Given the description of an element on the screen output the (x, y) to click on. 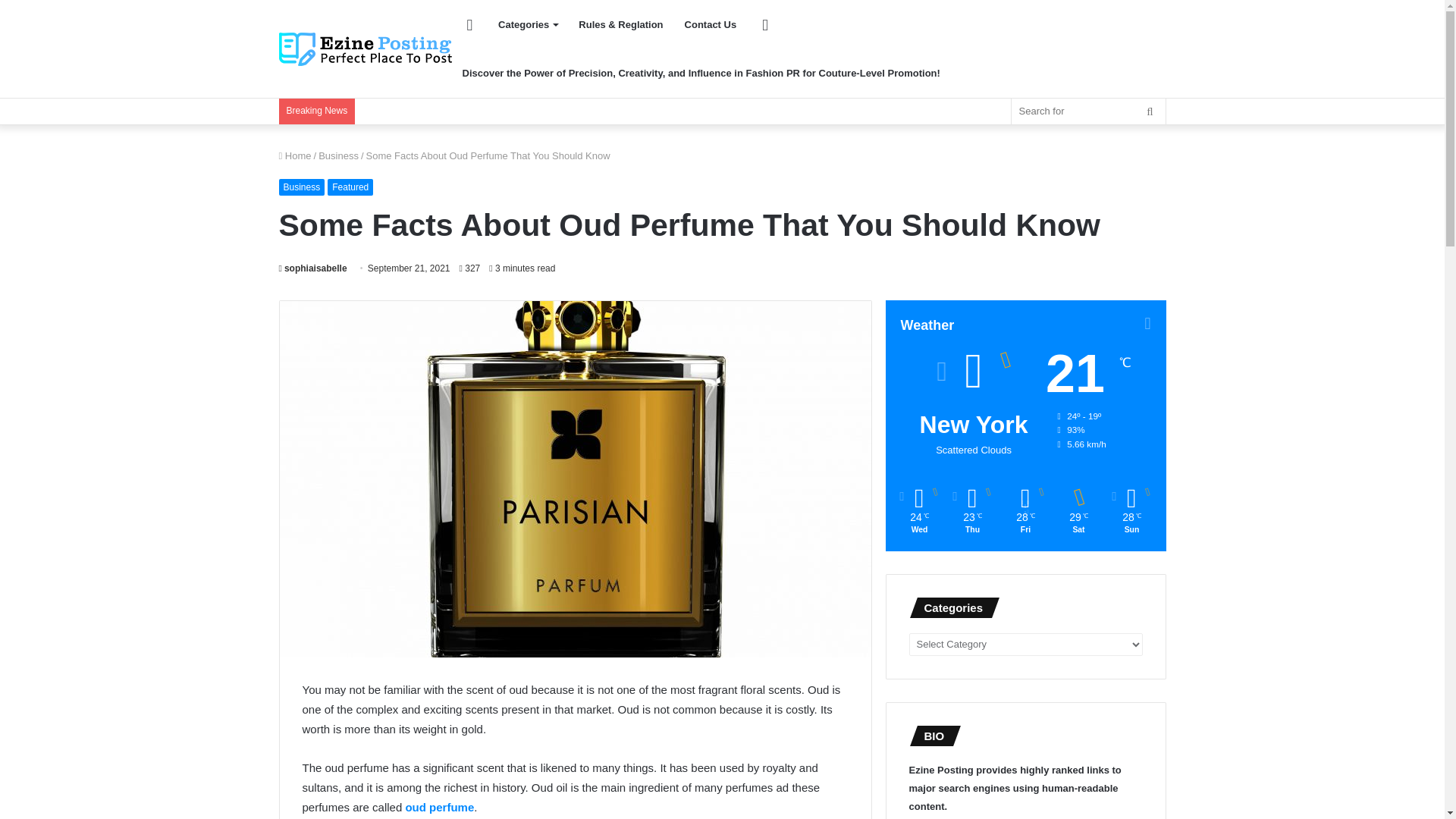
Ezine Posting (365, 49)
Search for (1088, 110)
Business (301, 187)
sophiaisabelle (313, 267)
Business (338, 155)
Categories (527, 24)
sophiaisabelle (313, 267)
oud perfume (439, 807)
Search for (1149, 110)
